Given the description of an element on the screen output the (x, y) to click on. 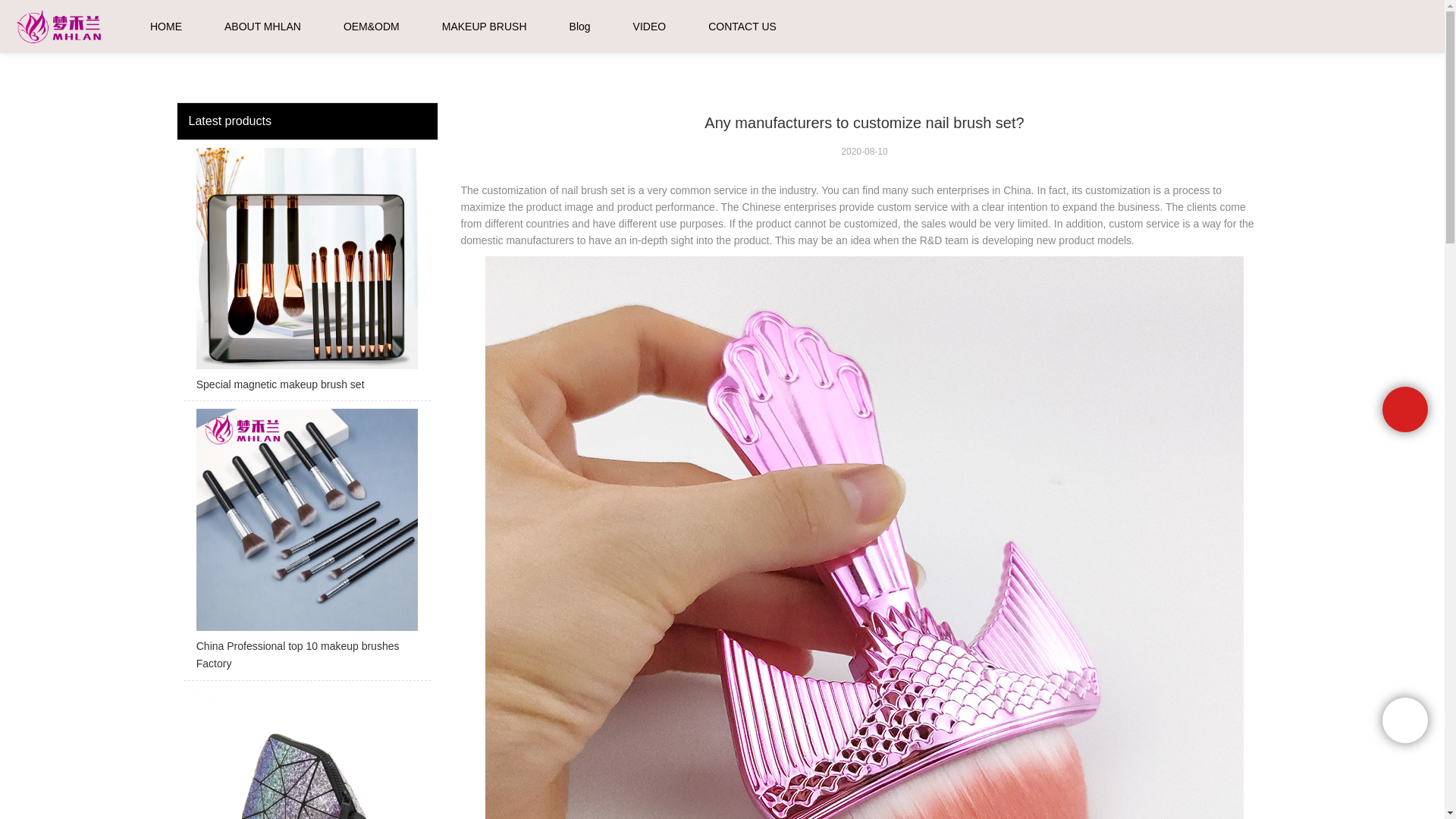
MAKEUP BRUSH (484, 26)
Blog (580, 26)
CONTACT US (741, 26)
Travel Makeup Bag (306, 753)
China Professional top 10 makeup brushes Factory (306, 544)
ABOUT MHLAN (262, 26)
HOME (165, 26)
Special magnetic makeup brush set (306, 274)
VIDEO (649, 26)
